Given the description of an element on the screen output the (x, y) to click on. 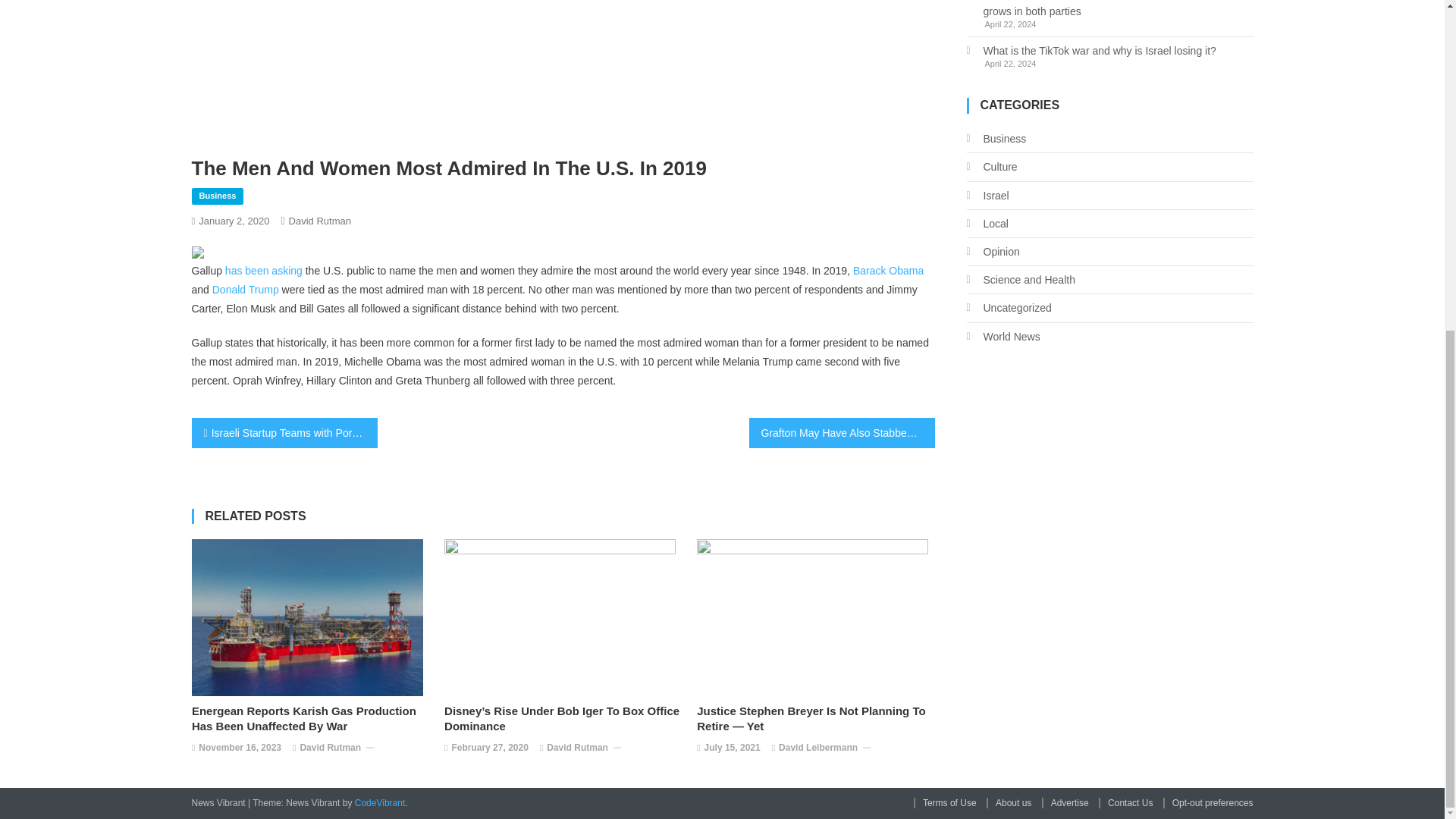
David Rutman (330, 748)
has been asking (263, 270)
November 16, 2023 (239, 748)
David Rutman (319, 220)
February 27, 2020 (489, 748)
July 15, 2021 (732, 748)
Donald Trump  (247, 289)
Business (216, 196)
January 2, 2020 (233, 220)
David Rutman (577, 748)
Barack Obama (888, 270)
